Given the description of an element on the screen output the (x, y) to click on. 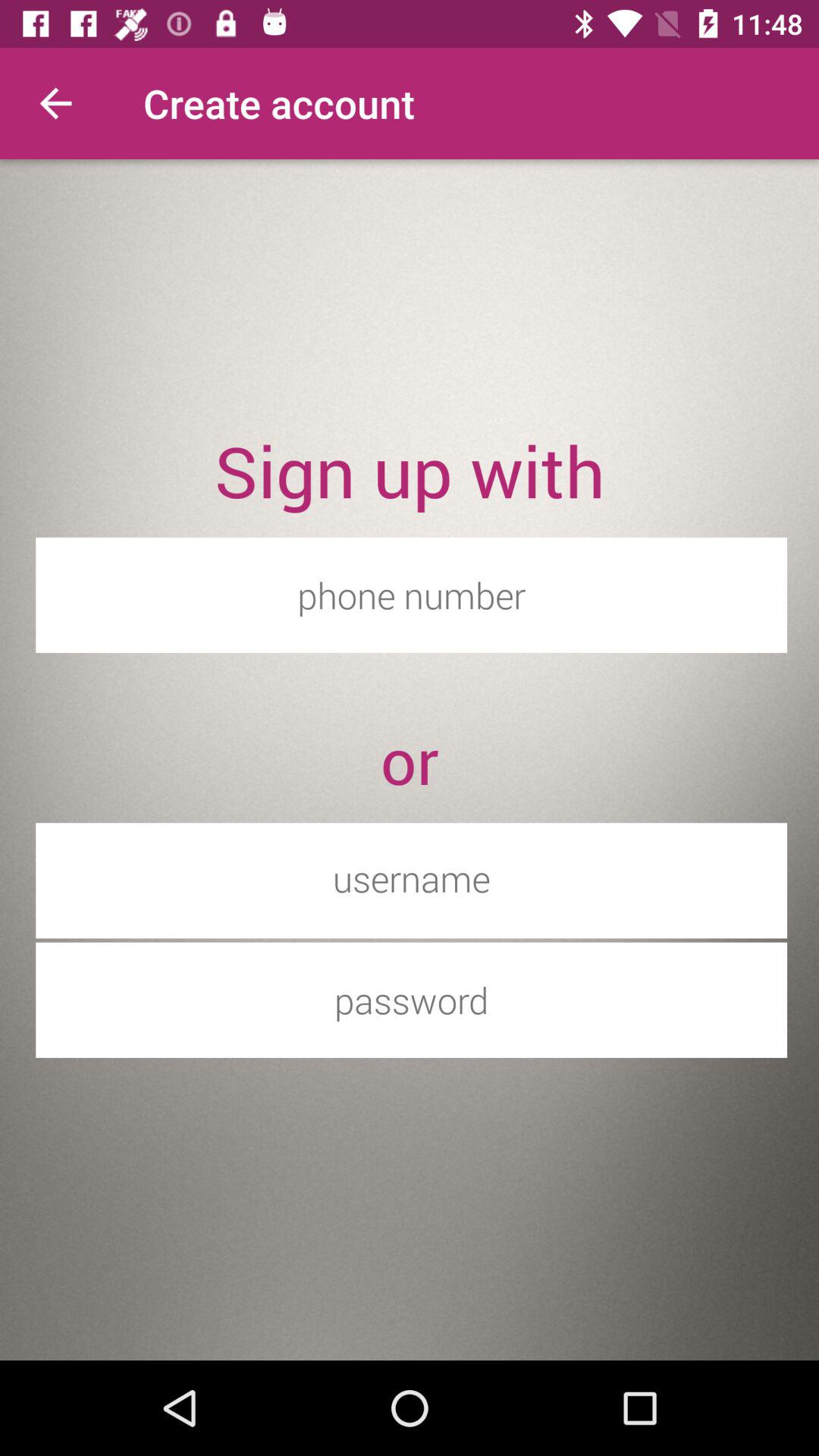
username input (411, 878)
